Given the description of an element on the screen output the (x, y) to click on. 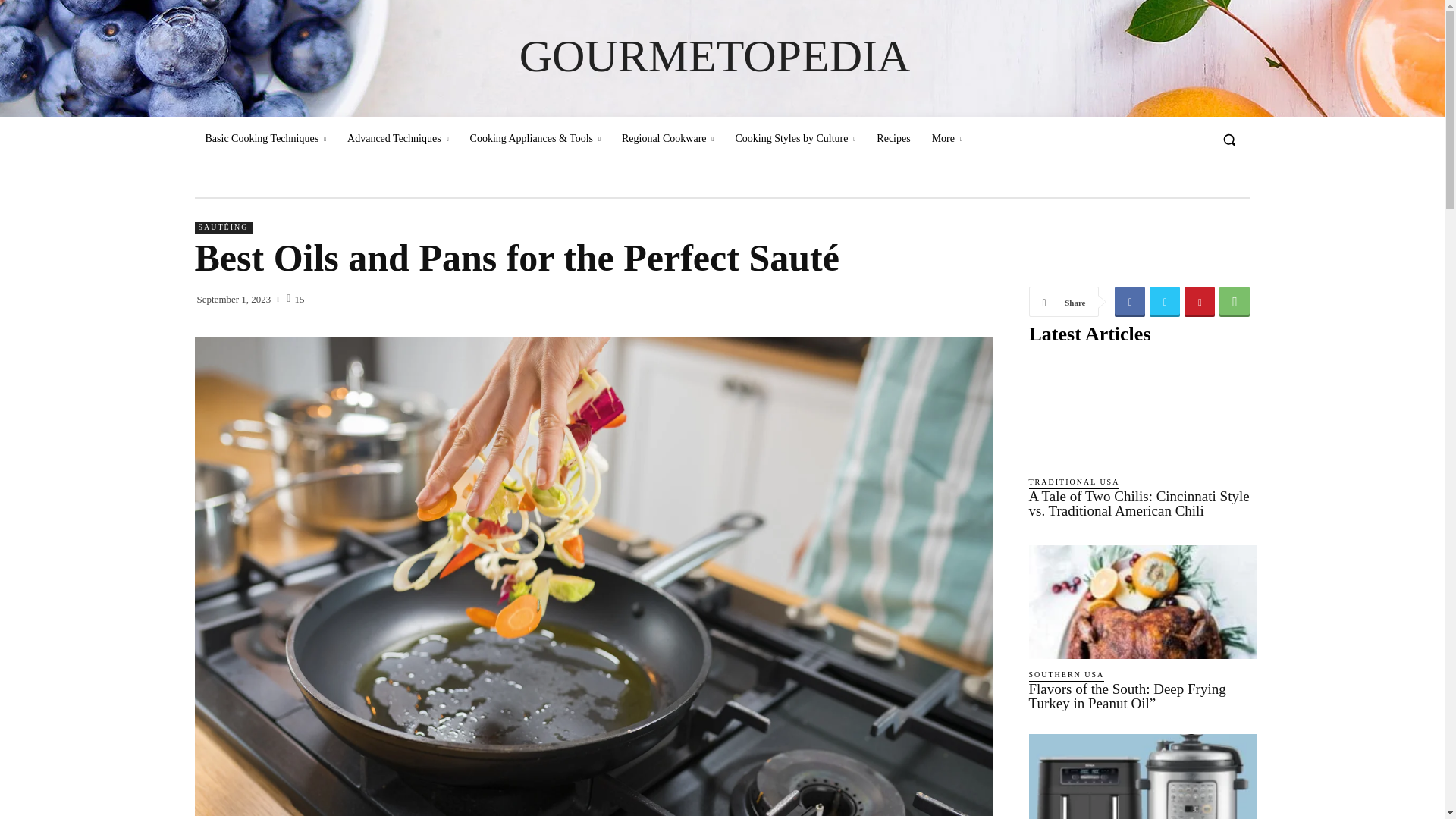
WhatsApp (1234, 301)
Twitter (1164, 301)
Facebook (1129, 301)
Pinterest (1199, 301)
